Given the description of an element on the screen output the (x, y) to click on. 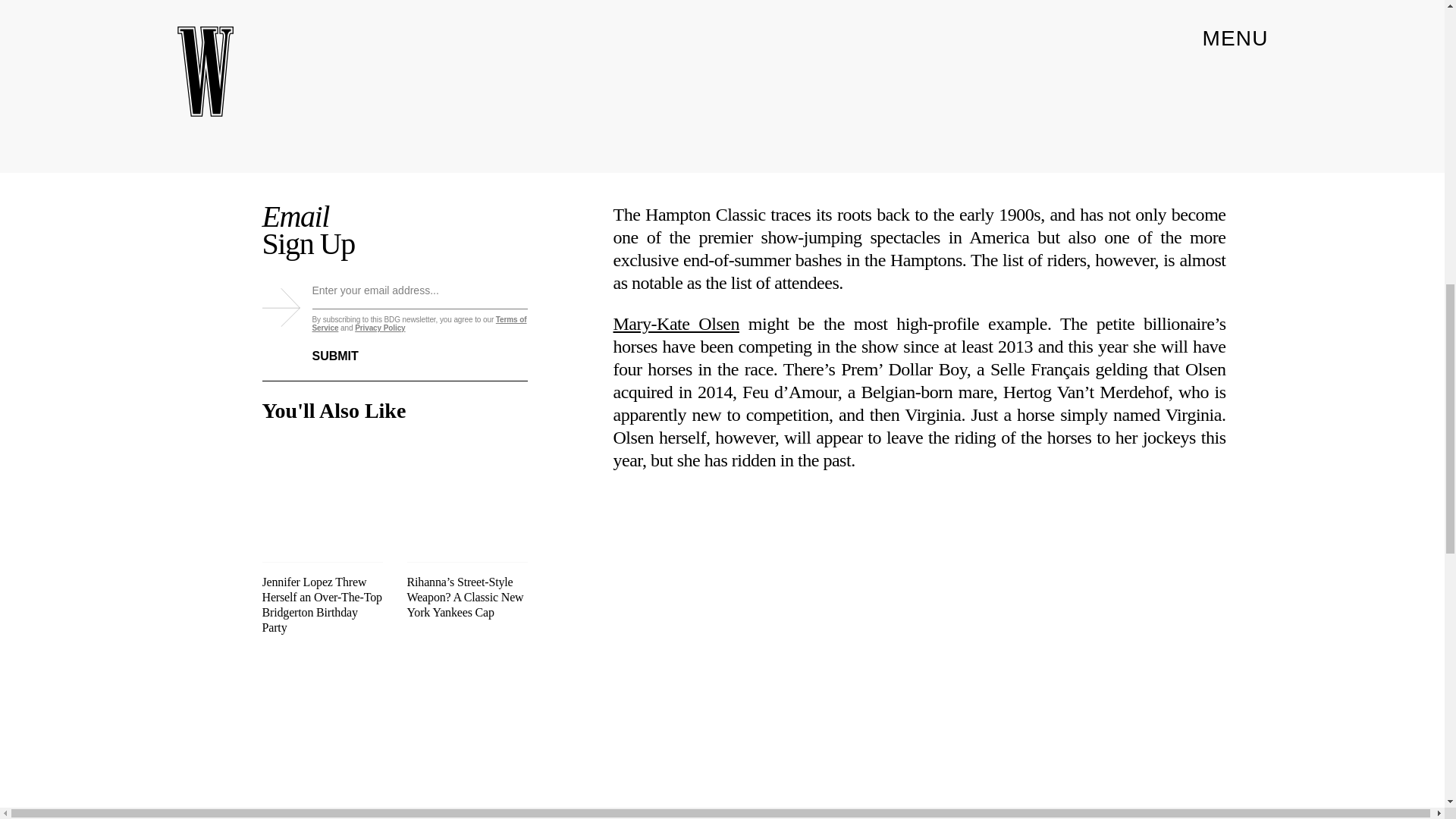
SUBMIT (347, 347)
Terms of Service (420, 323)
Privacy Policy (379, 327)
Mary-Kate Olsen (675, 323)
